Given the description of an element on the screen output the (x, y) to click on. 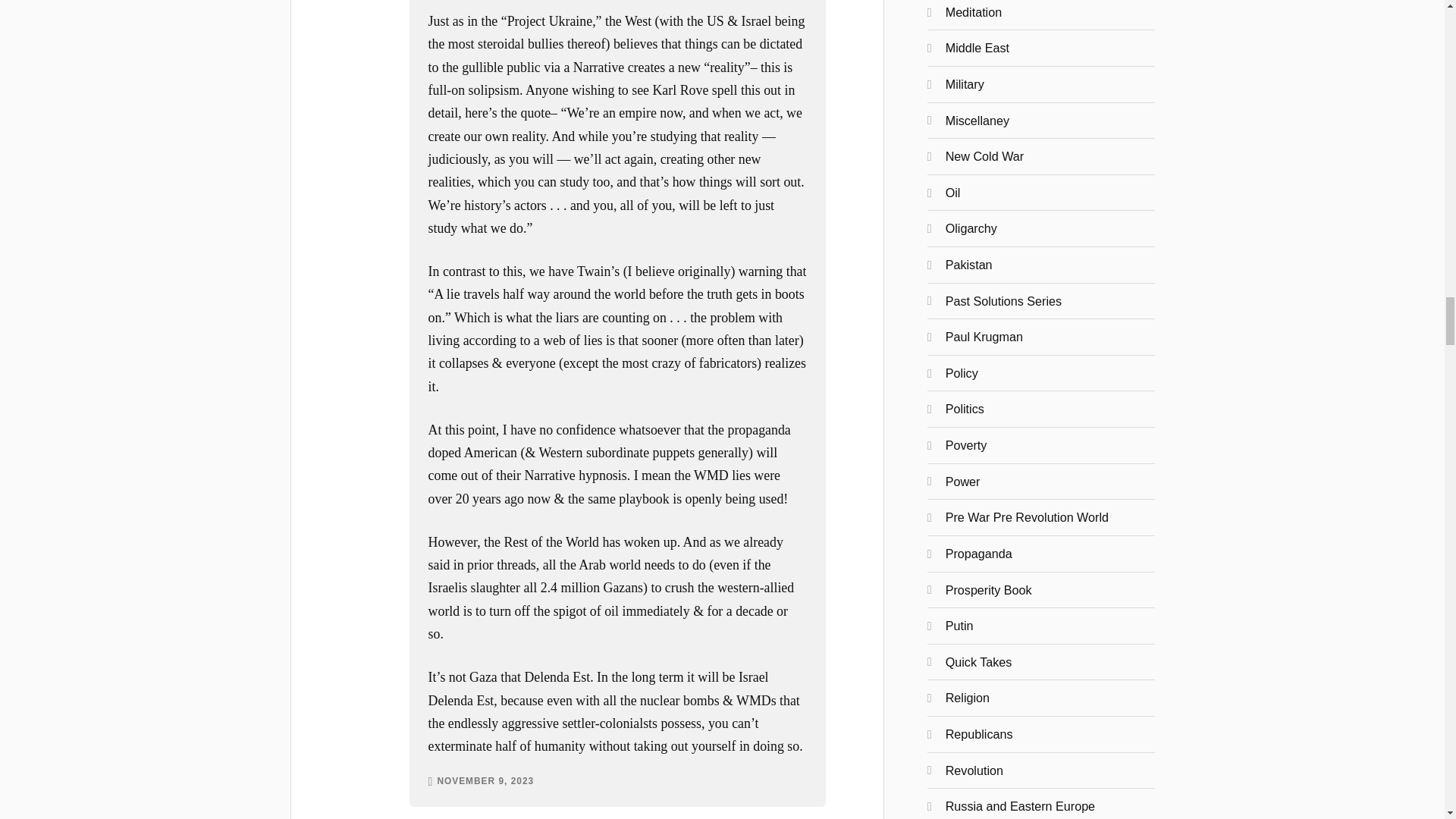
NOVEMBER 9, 2023 (485, 781)
